Given the description of an element on the screen output the (x, y) to click on. 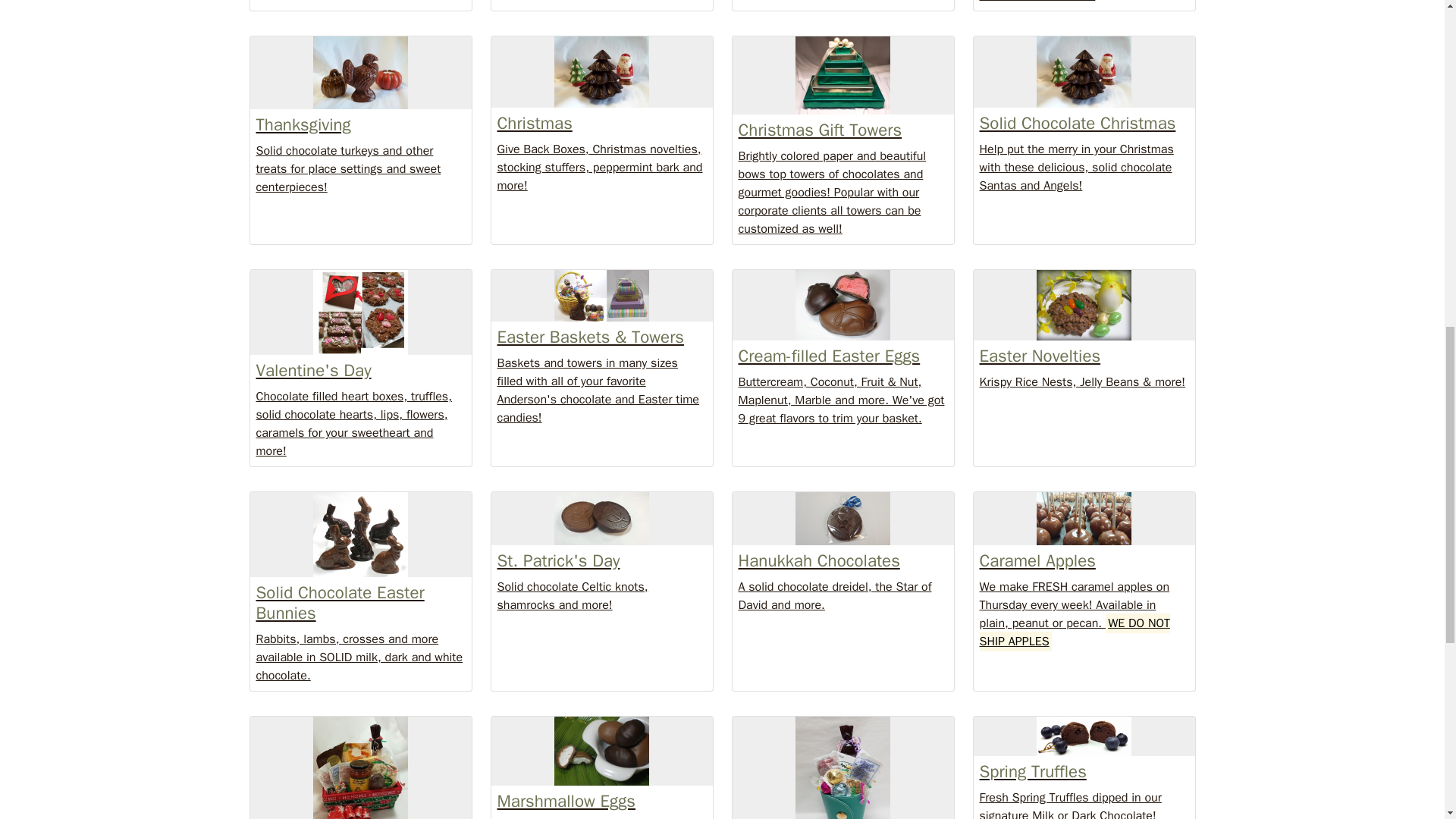
 Cream-filled Easter Eggs  (841, 305)
 Easter Novelties  (1083, 305)
 St. Patrick's Day  (601, 518)
 Christmas  (601, 71)
 Solid Chocolate Christmas  (1083, 71)
 Solid Chocolate Easter Bunnies  (360, 534)
 Christmas Gift Towers  (841, 75)
